Given the description of an element on the screen output the (x, y) to click on. 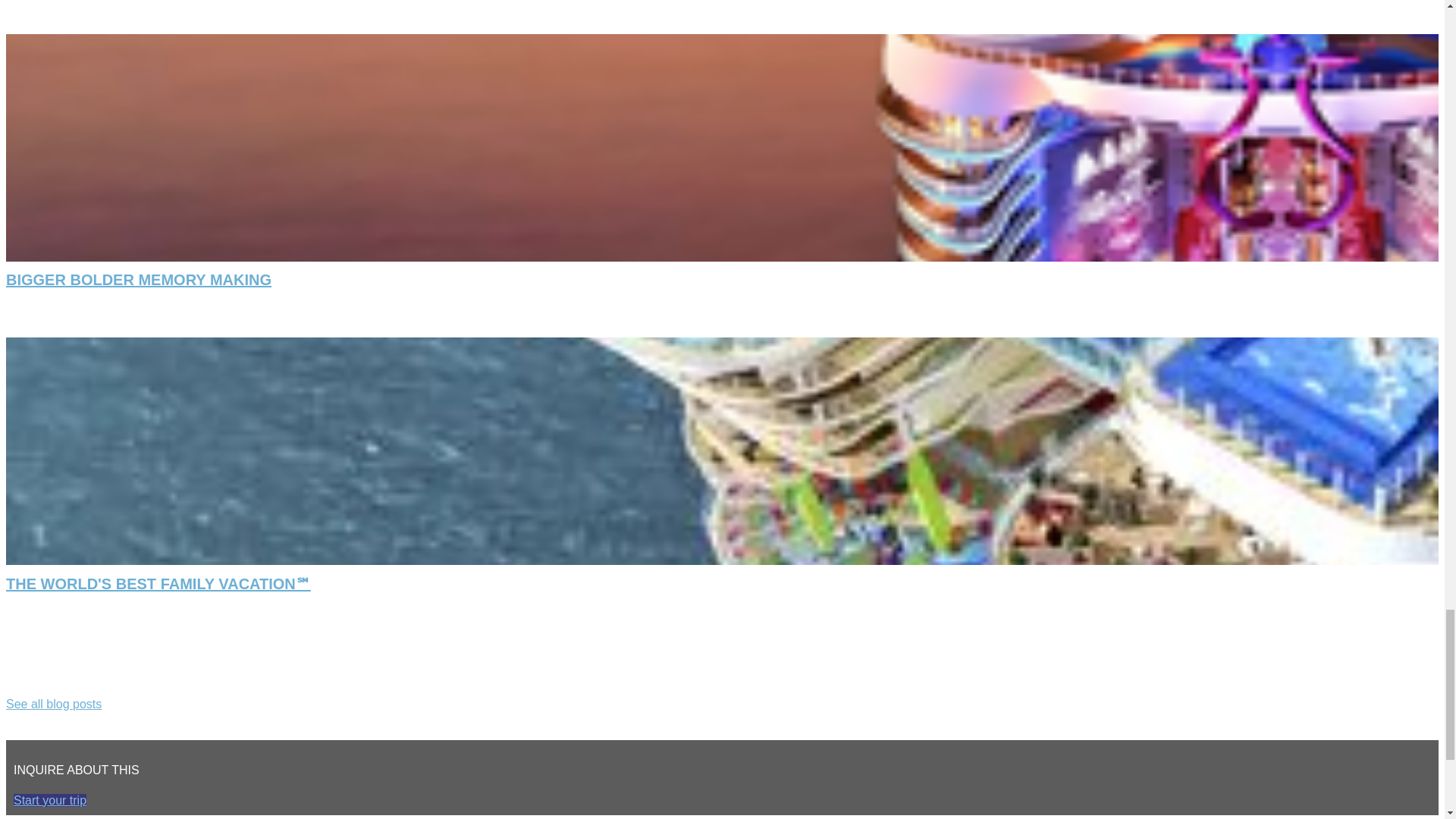
Start your trip (49, 799)
See all blog posts (53, 703)
